Given the description of an element on the screen output the (x, y) to click on. 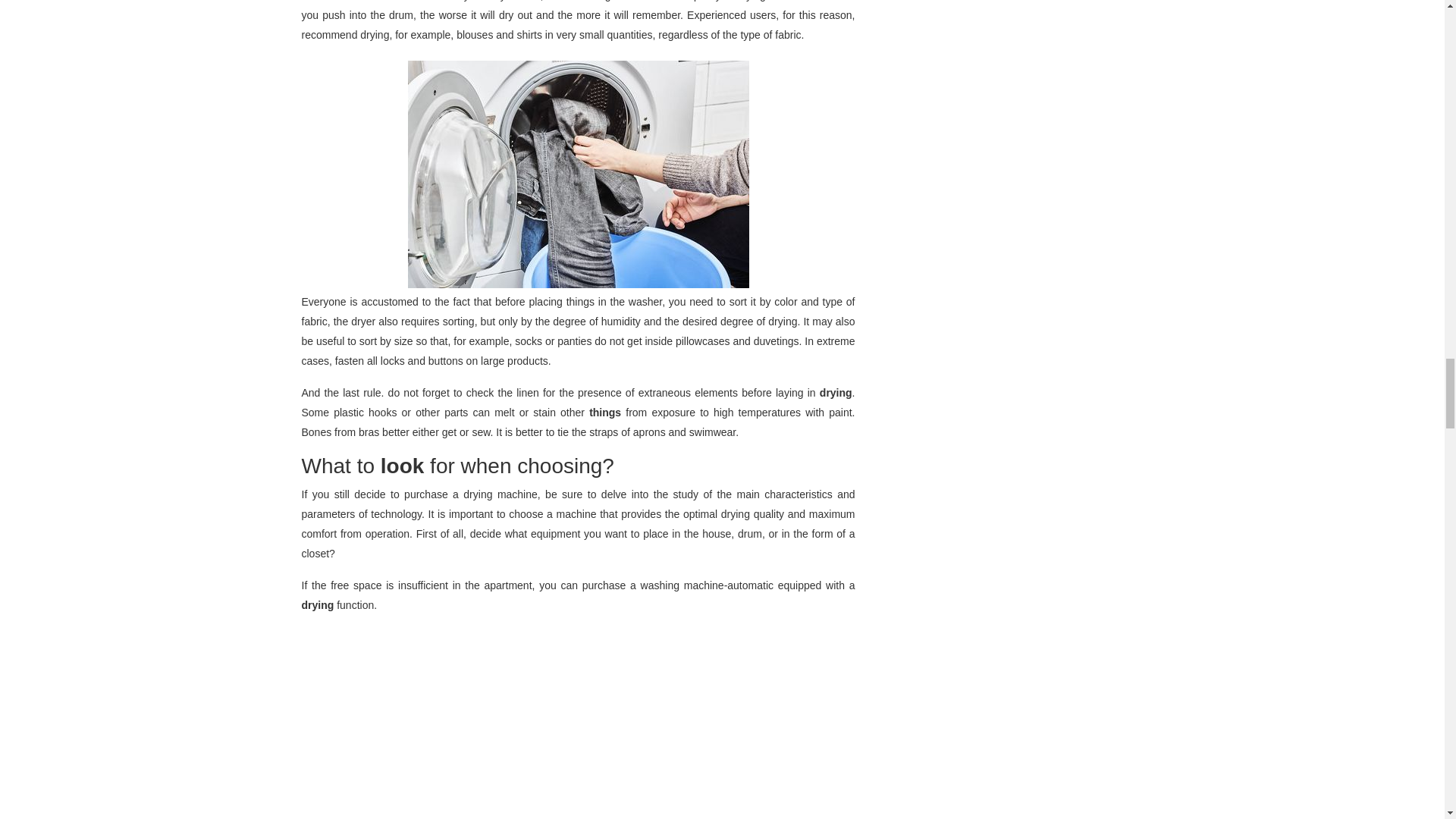
Things after the drying machine look like look (578, 174)
